Given the description of an element on the screen output the (x, y) to click on. 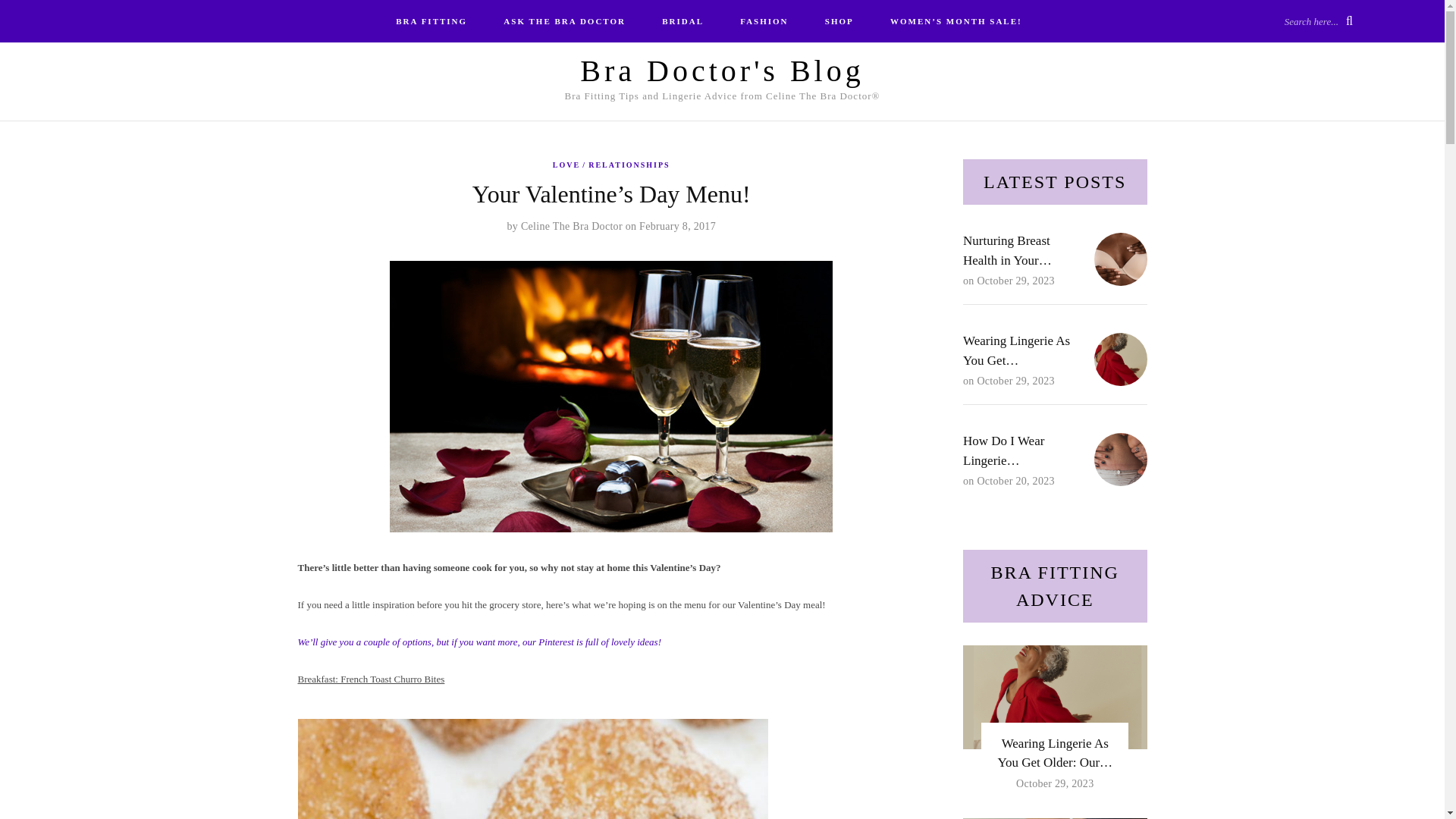
Fashion (764, 21)
LOVE (569, 164)
Women's Month Sale! (956, 21)
Bridal (682, 21)
BRA FITTING (430, 21)
ASK THE BRA DOCTOR (563, 21)
Bra Doctor's Blog (721, 70)
Ask The Bra Doctor (563, 21)
FASHION (764, 21)
Bra Fitting (430, 21)
Bra Doctor's Blog (721, 70)
Search here... (1318, 20)
BRIDAL (682, 21)
RELATIONSHIPS (628, 164)
Celine The Bra Doctor (572, 225)
